Given the description of an element on the screen output the (x, y) to click on. 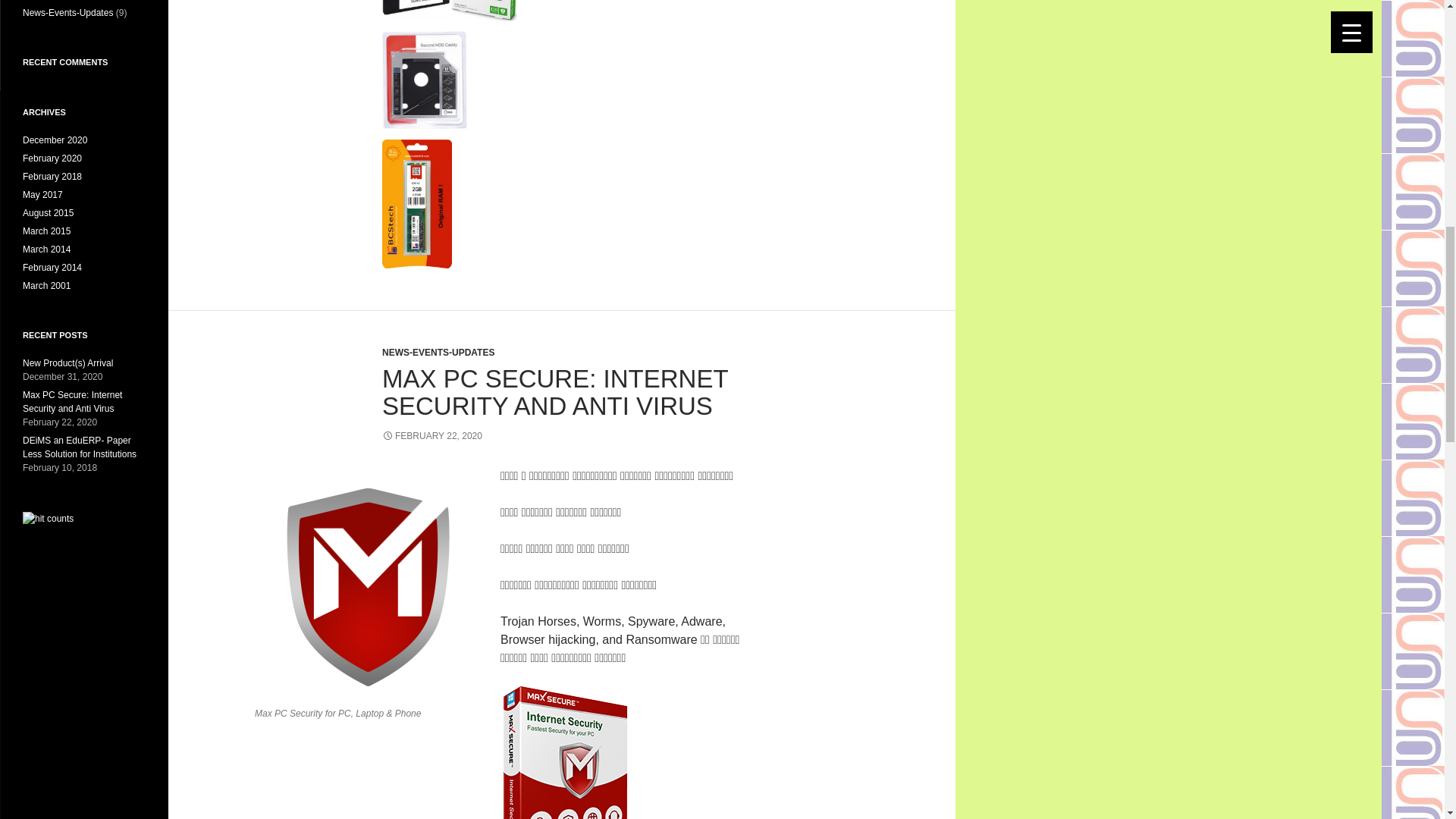
MAX PC SECURE: INTERNET SECURITY AND ANTI VIRUS (554, 392)
NEWS-EVENTS-UPDATES (438, 352)
hit counter (48, 517)
FEBRUARY 22, 2020 (431, 435)
